Given the description of an element on the screen output the (x, y) to click on. 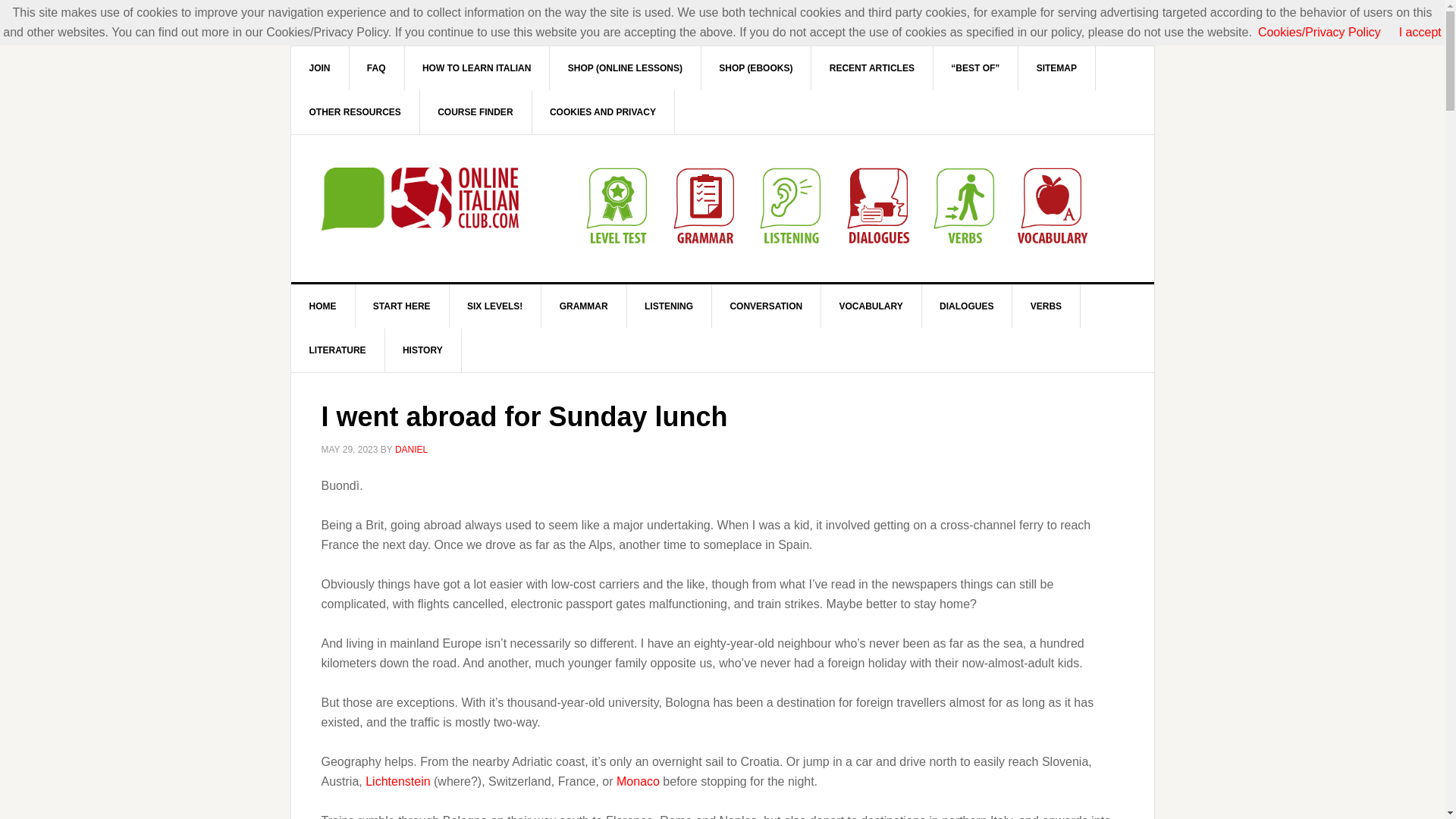
DANIEL (411, 449)
CONVERSATION (766, 306)
START HERE (402, 306)
SITEMAP (1056, 67)
HISTORY (422, 350)
FAQ (376, 67)
OTHER RESOURCES (355, 112)
VERBS (1045, 306)
COOKIES AND PRIVACY (603, 112)
Monaco (637, 780)
ONLINE ITALIAN CLUB (419, 199)
HOME (323, 306)
VOCABULARY (871, 306)
LISTENING (668, 306)
RECENT ARTICLES (871, 67)
